Given the description of an element on the screen output the (x, y) to click on. 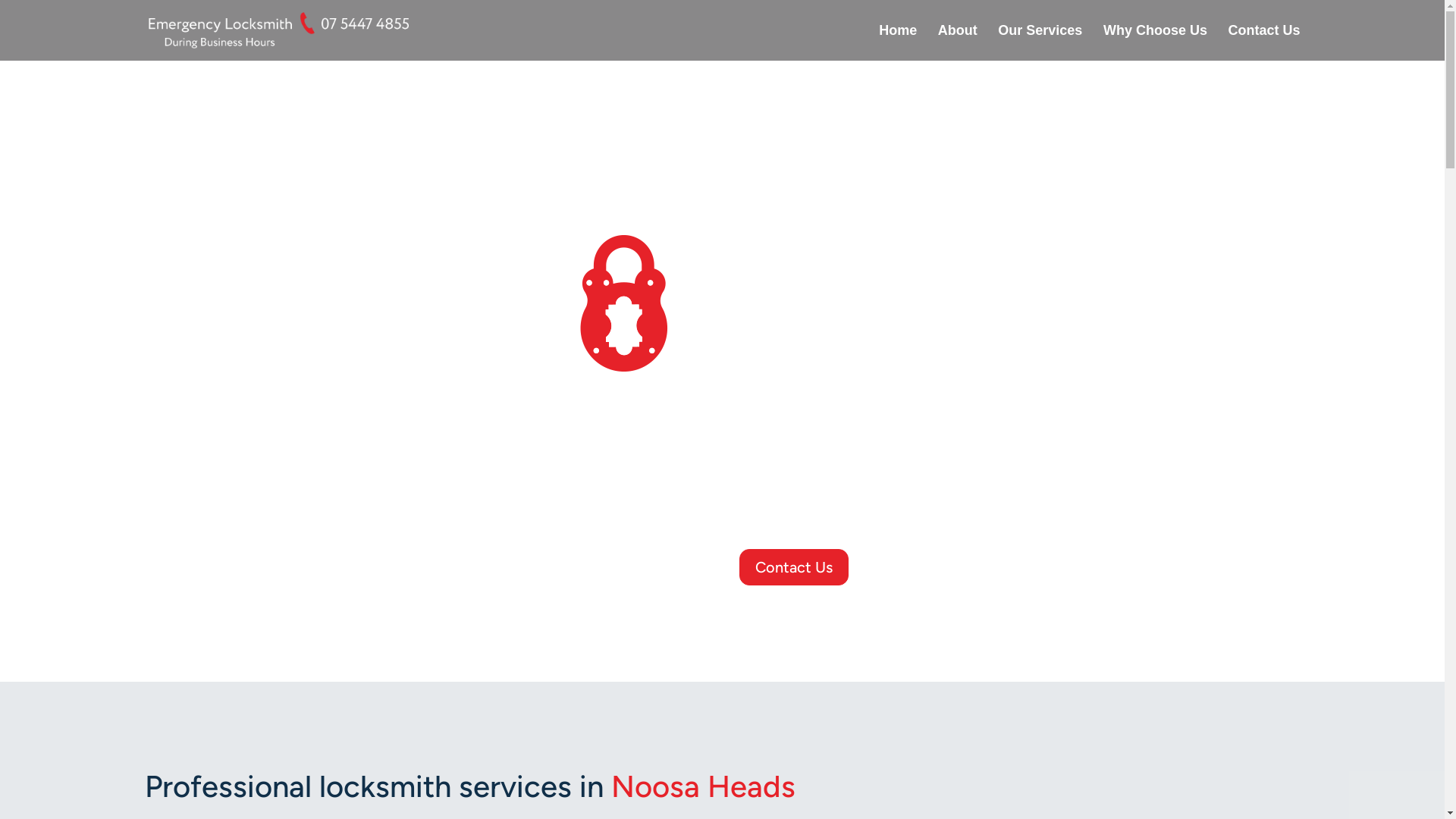
Our Services Element type: text (1039, 42)
Our Services Element type: text (645, 567)
Contact Us Element type: text (1263, 42)
Why Choose Us Element type: text (1155, 42)
About Element type: text (957, 42)
Logo Noosa Locksmiths Element type: hover (721, 319)
Contact Us Element type: text (793, 567)
Home Element type: text (897, 42)
